Given the description of an element on the screen output the (x, y) to click on. 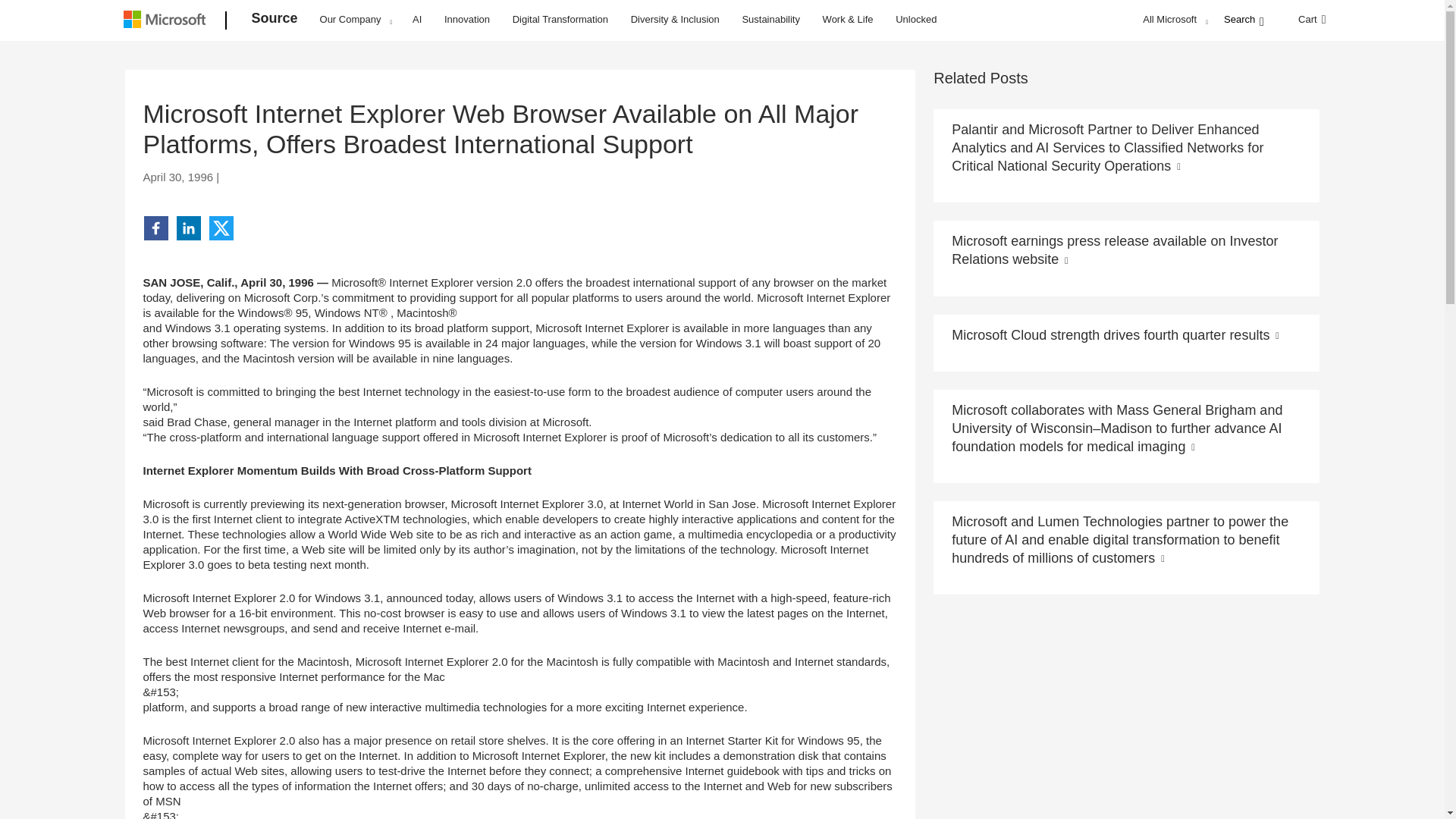
Unlocked (915, 18)
Sustainability (770, 18)
Our Company (355, 18)
Source (274, 20)
Innovation (467, 18)
Digital Transformation (559, 18)
Microsoft (167, 20)
All Microsoft (1173, 18)
